Given the description of an element on the screen output the (x, y) to click on. 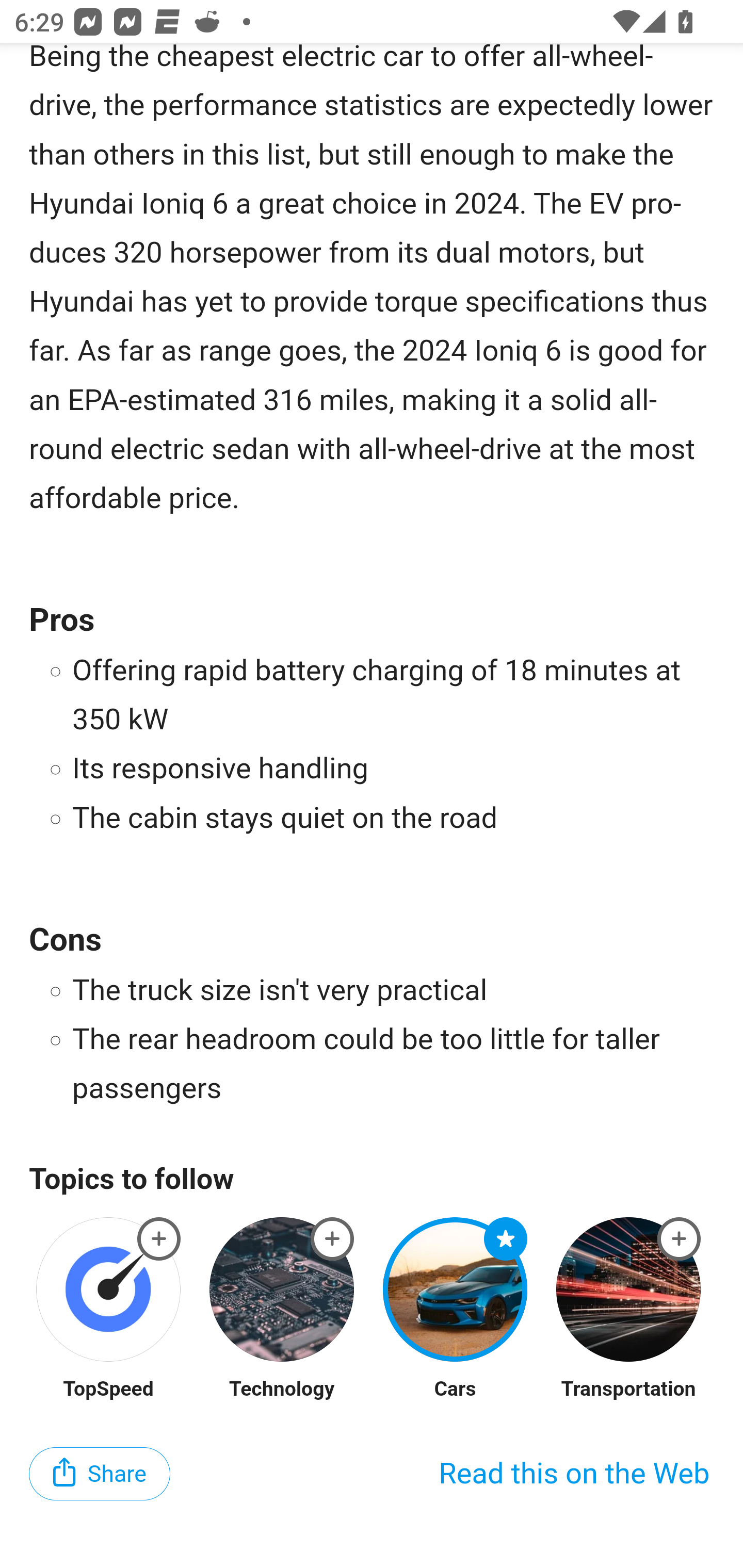
most-affordable-awd-electric-cars (159, 1240)
most-affordable-awd-electric-cars (332, 1240)
most-affordable-awd-electric-cars (505, 1240)
most-affordable-awd-electric-cars (679, 1240)
TopSpeed (108, 1390)
Technology (281, 1390)
Cars (455, 1390)
Transportation (627, 1390)
Read this on the Web (573, 1475)
Share (99, 1475)
